Given the description of an element on the screen output the (x, y) to click on. 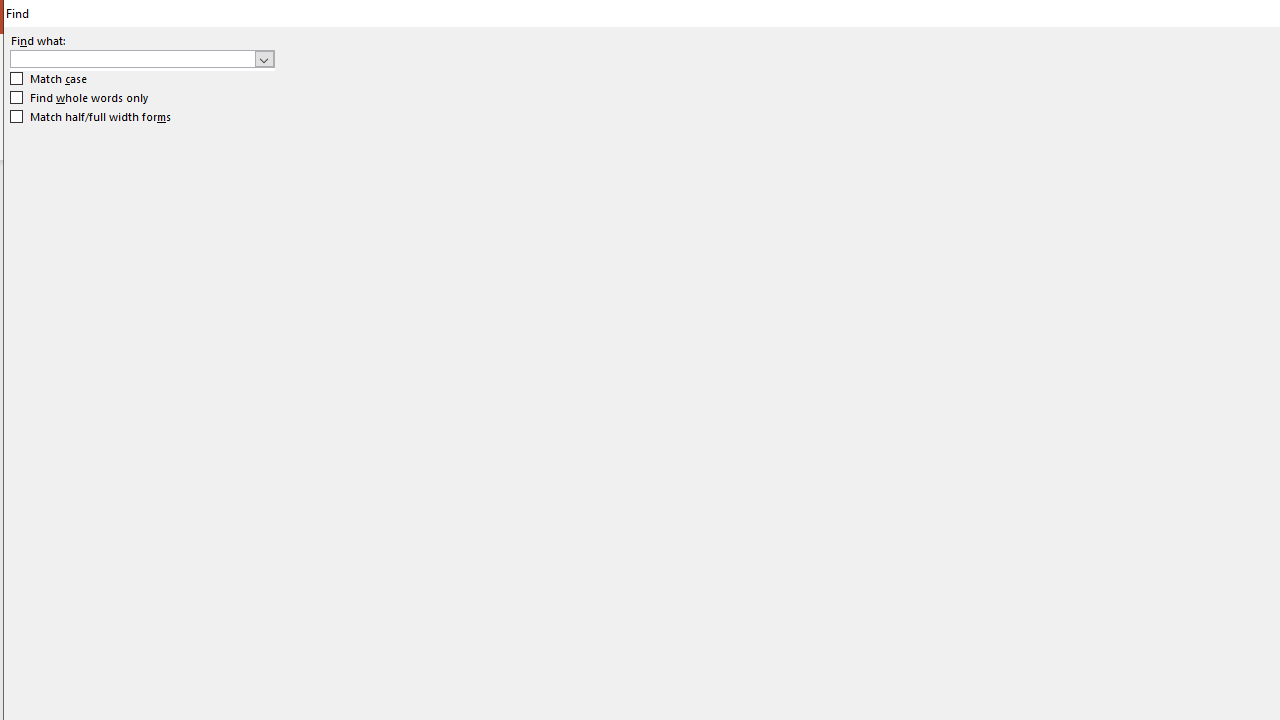
Find whole words only (79, 97)
Match case (49, 79)
Find what (132, 58)
Find what (142, 58)
Match half/full width forms (91, 116)
